Given the description of an element on the screen output the (x, y) to click on. 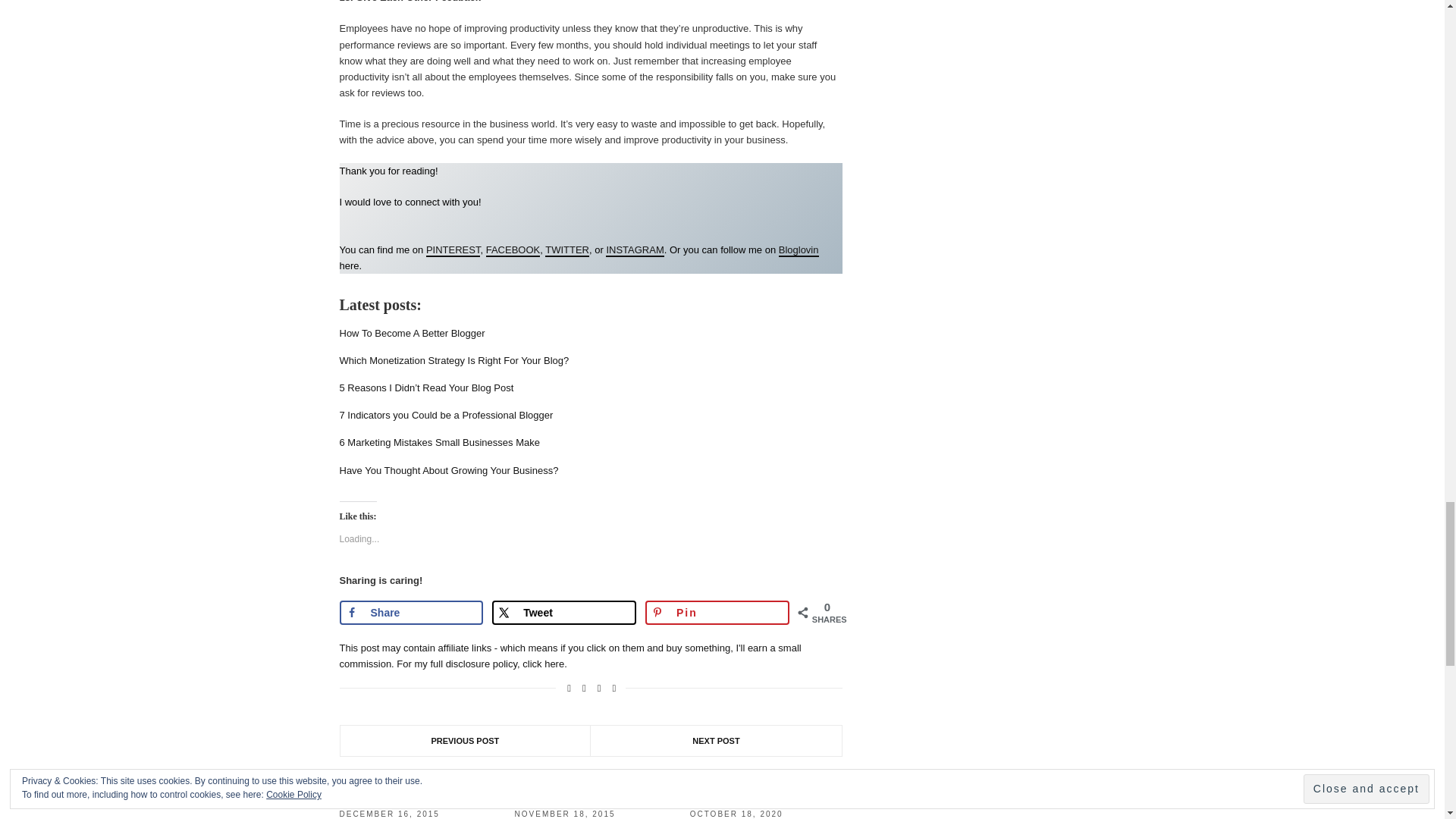
FACEBOOK (513, 250)
Share on X (564, 612)
INSTAGRAM (634, 250)
PINTEREST (453, 250)
Bloglovin (798, 250)
Share on Facebook (411, 612)
How To Become A Better Blogger (411, 333)
TWITTER (566, 250)
Save to Pinterest (717, 612)
